Given the description of an element on the screen output the (x, y) to click on. 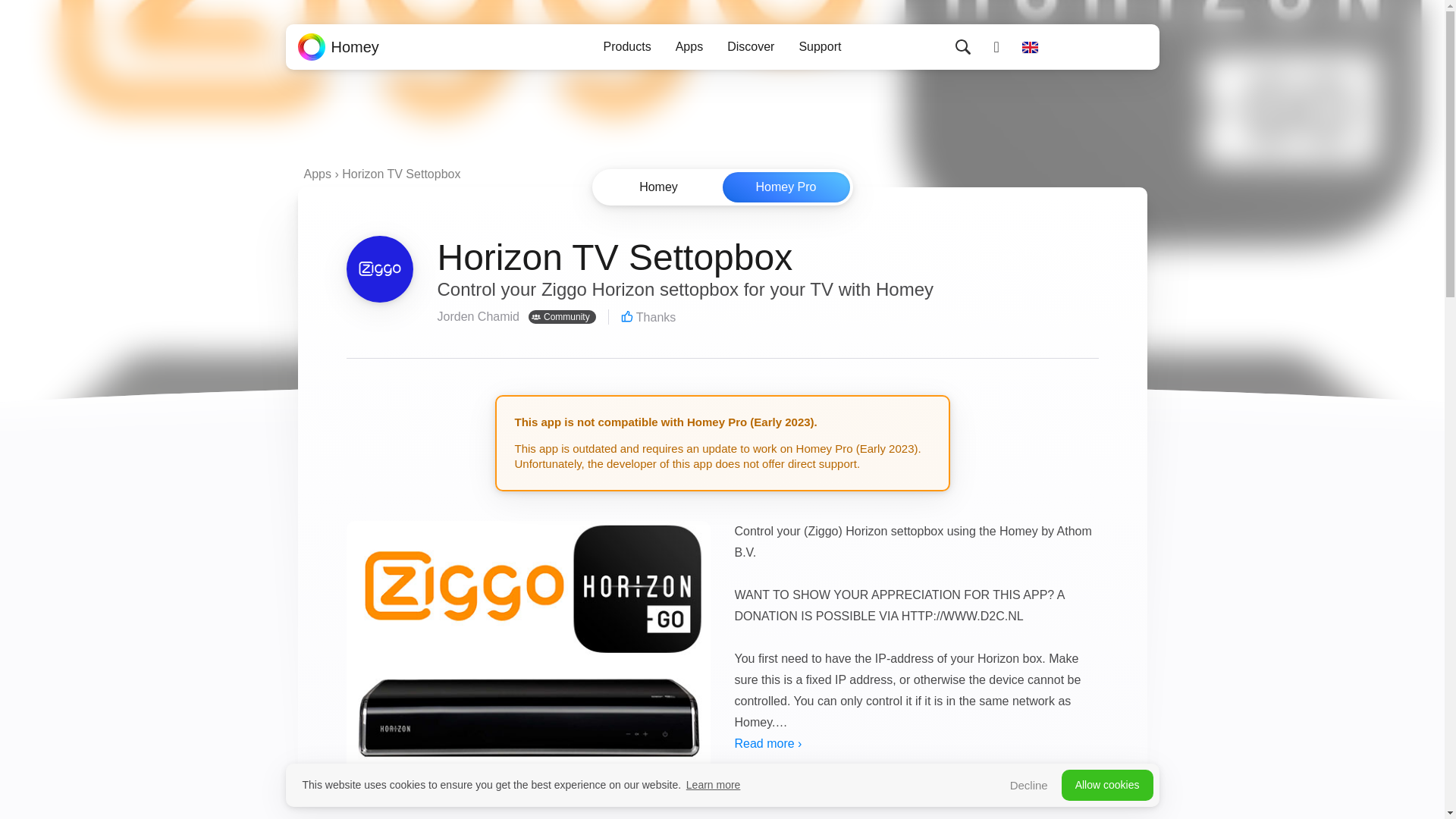
Homey (337, 46)
Discover (750, 46)
Choose your platform (721, 186)
Login (996, 46)
Choose your country (1029, 46)
Start for Free (1101, 46)
Home (337, 46)
Decline (1037, 785)
Products (627, 46)
Apps (688, 46)
Search (962, 46)
Learn more (713, 786)
Support (819, 46)
Allow cookies (1107, 784)
